Given the description of an element on the screen output the (x, y) to click on. 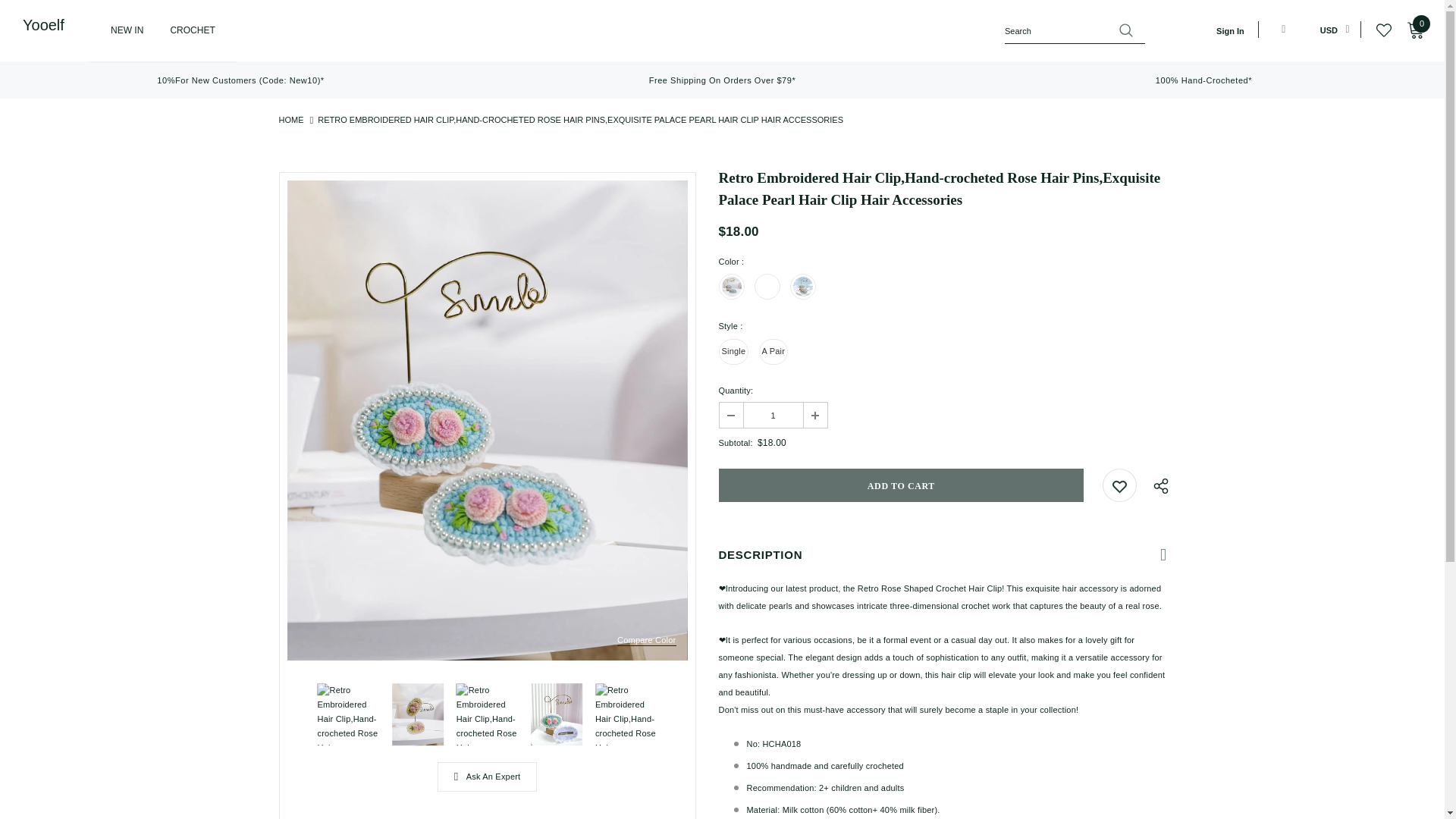
CROCHET (192, 37)
Add to cart (901, 485)
Yooelf (45, 25)
1 (772, 414)
